Given the description of an element on the screen output the (x, y) to click on. 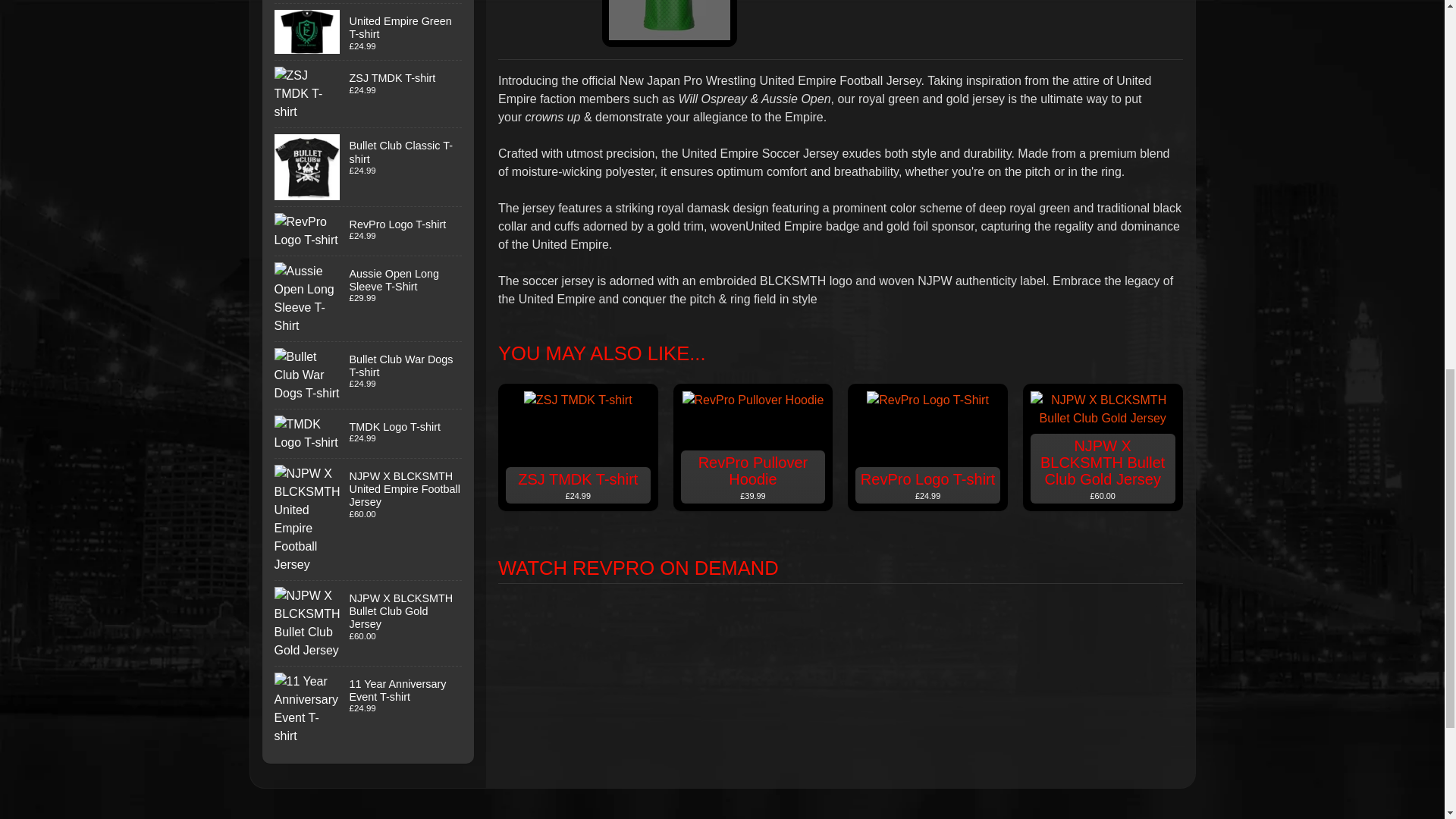
ZSJ TMDK T-shirt (369, 93)
TMDK Logo T-shirt (369, 433)
11 Year Anniversary Event T-shirt (369, 708)
WATCH REVPRO ON DEMAND (839, 568)
United Empire Green T-shirt (369, 31)
Aussie Open Long Sleeve T-Shirt (369, 298)
Bullet Club Classic T-shirt (369, 166)
NJPW X BLCKSMTH United Empire Football Jersey (369, 518)
NJPW X BLCKSMTH United Empire Football Jersey (669, 23)
Bullet Club War Dogs T-shirt (369, 375)
NJPW X BLCKSMTH Bullet Club Gold Jersey (369, 622)
WATCH REVPRO ON DEMAND (839, 556)
RevPro Logo T-shirt (369, 231)
